Given the description of an element on the screen output the (x, y) to click on. 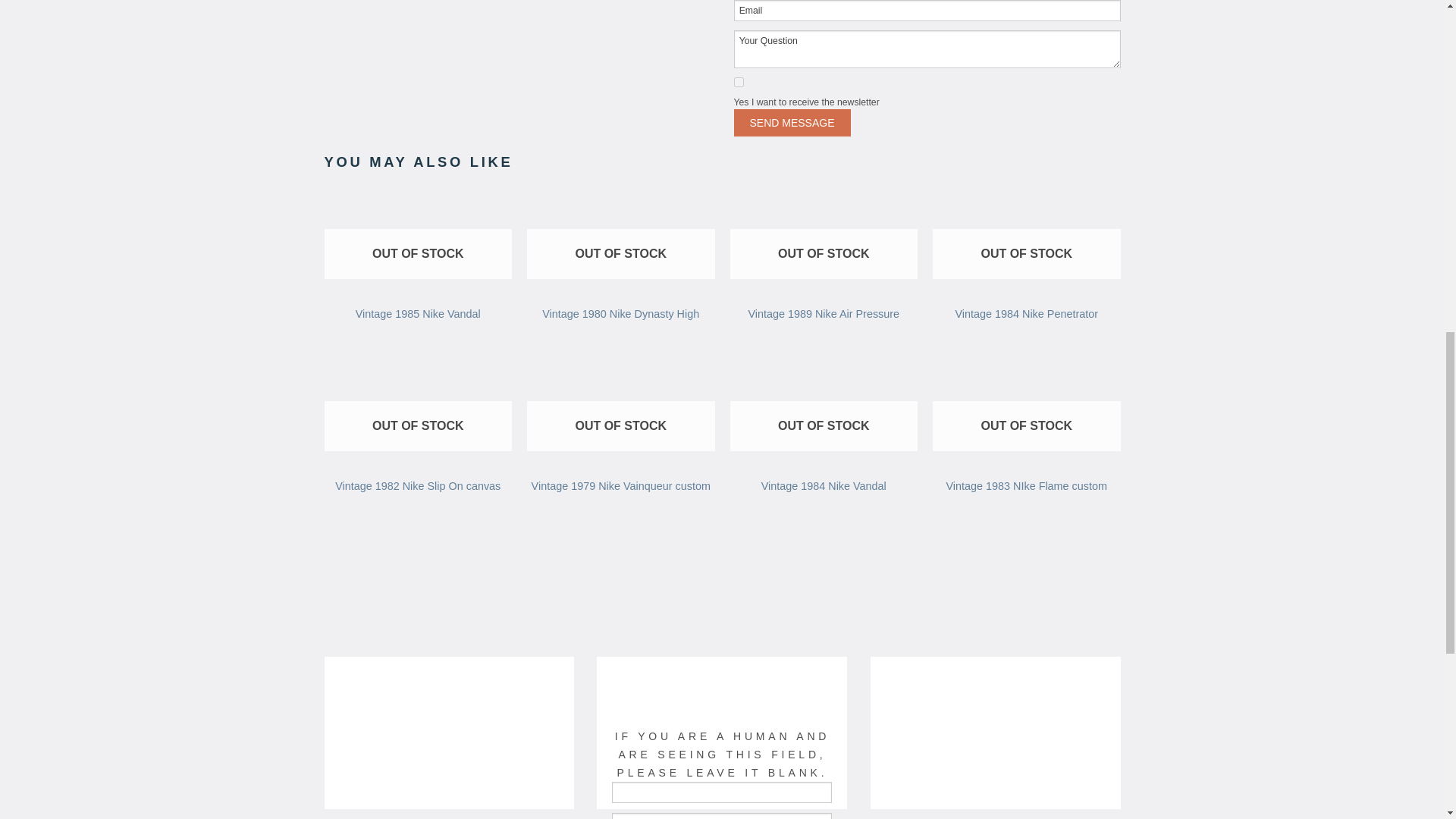
Your Email (721, 816)
Email (927, 10)
checked (738, 81)
Send Message (791, 122)
Send Message (791, 122)
